Given the description of an element on the screen output the (x, y) to click on. 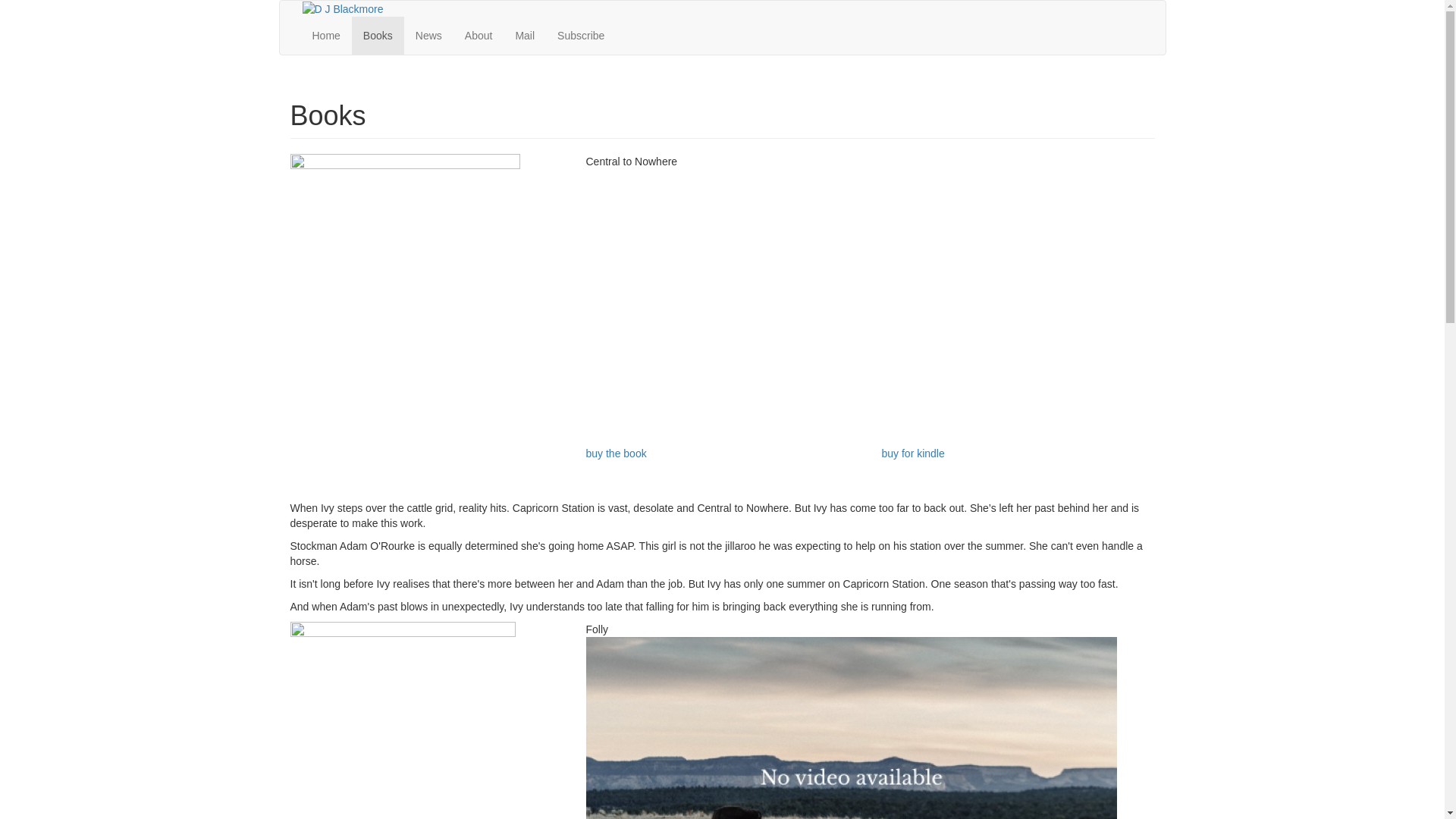
Mail Element type: text (524, 35)
News Element type: text (428, 35)
D J Blackmore Element type: hover (341, 8)
buy for kindle Element type: text (912, 453)
Subscribe Element type: text (580, 35)
Skip to main content Element type: text (48, 0)
About Element type: text (478, 35)
Books Element type: text (377, 35)
buy the book Element type: text (615, 453)
Home Element type: text (325, 35)
